Given the description of an element on the screen output the (x, y) to click on. 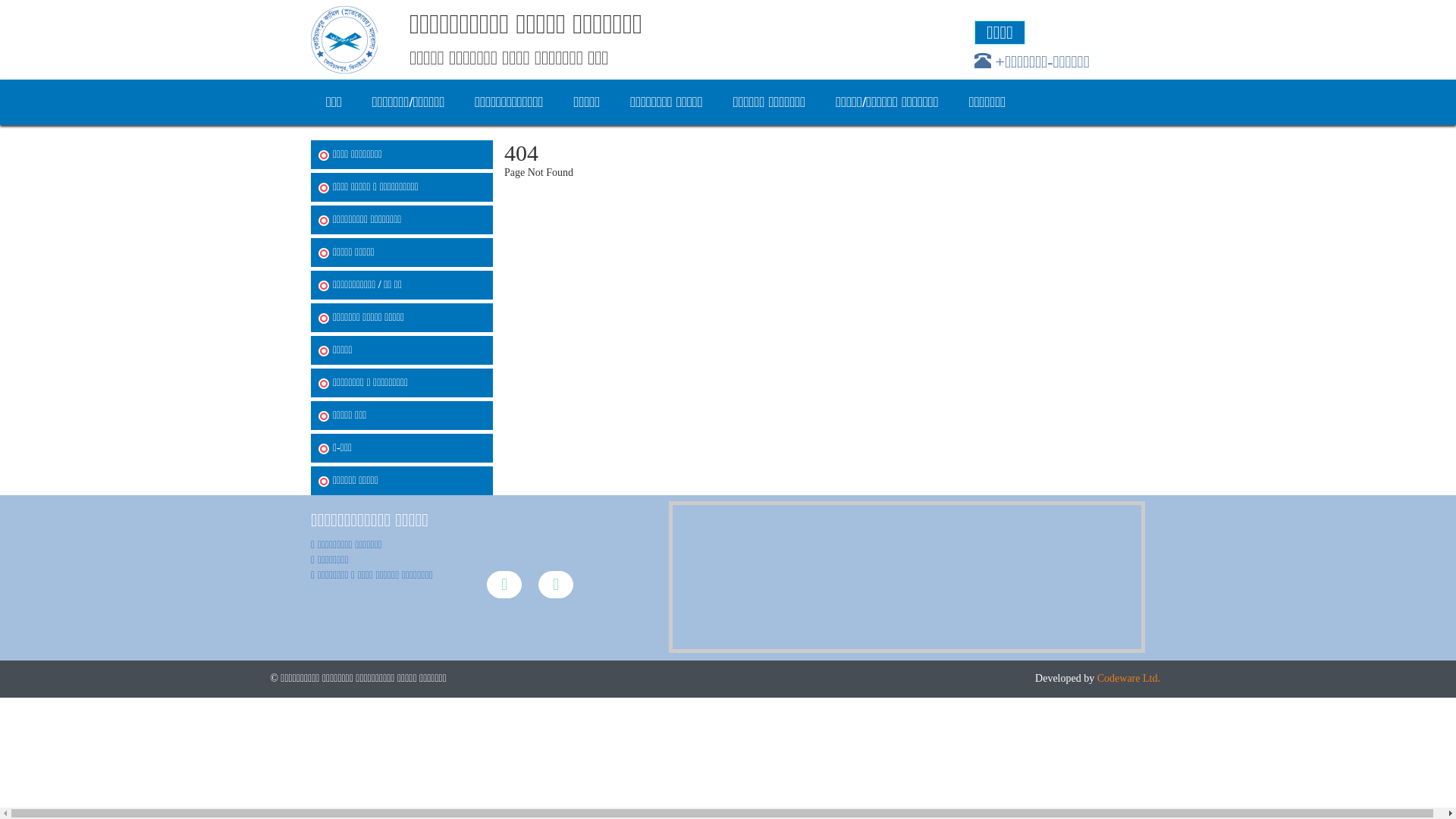
Codeware Ltd. Element type: text (1128, 678)
